Given the description of an element on the screen output the (x, y) to click on. 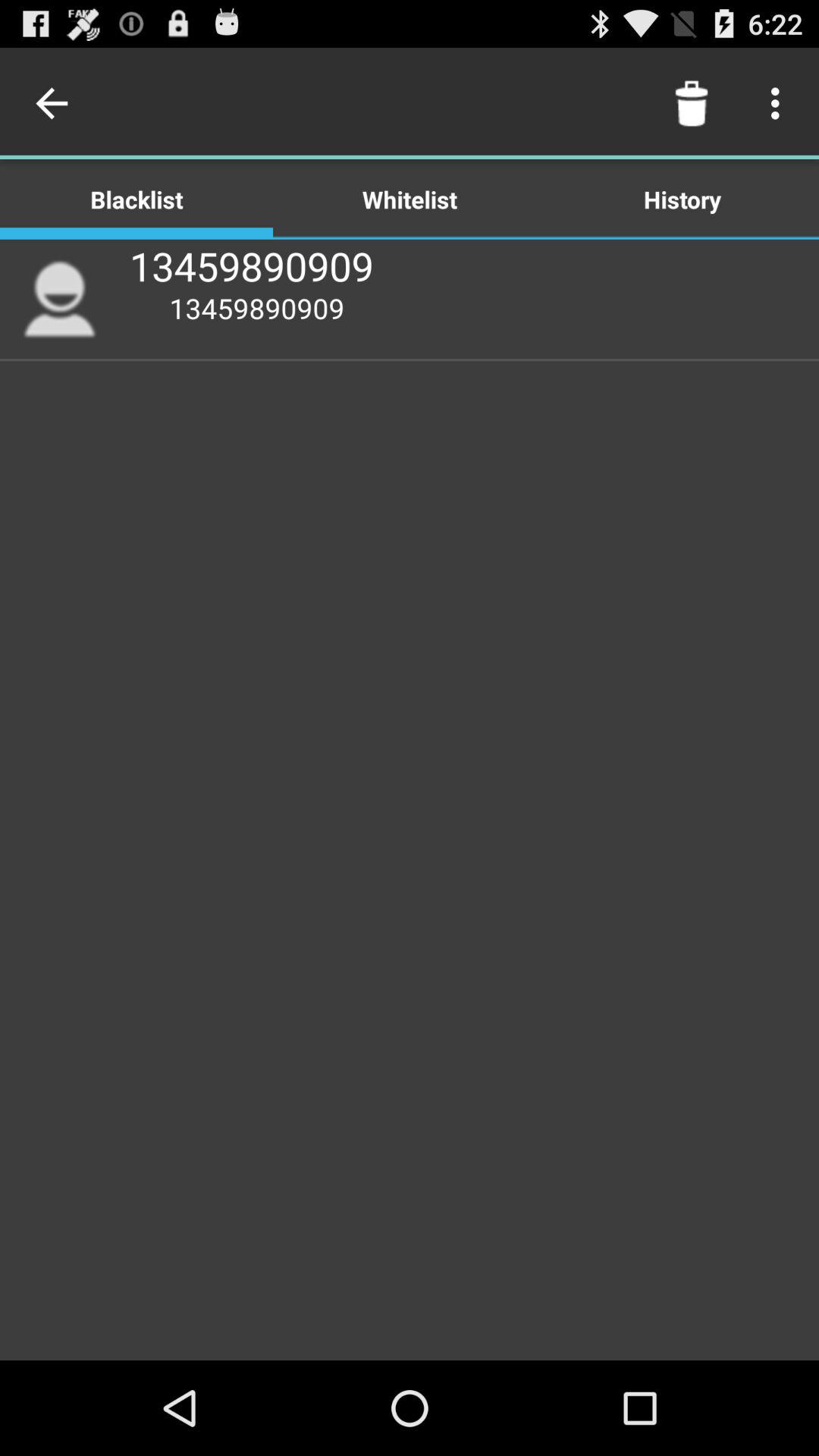
turn on the item to the right of the whitelist icon (682, 199)
